Given the description of an element on the screen output the (x, y) to click on. 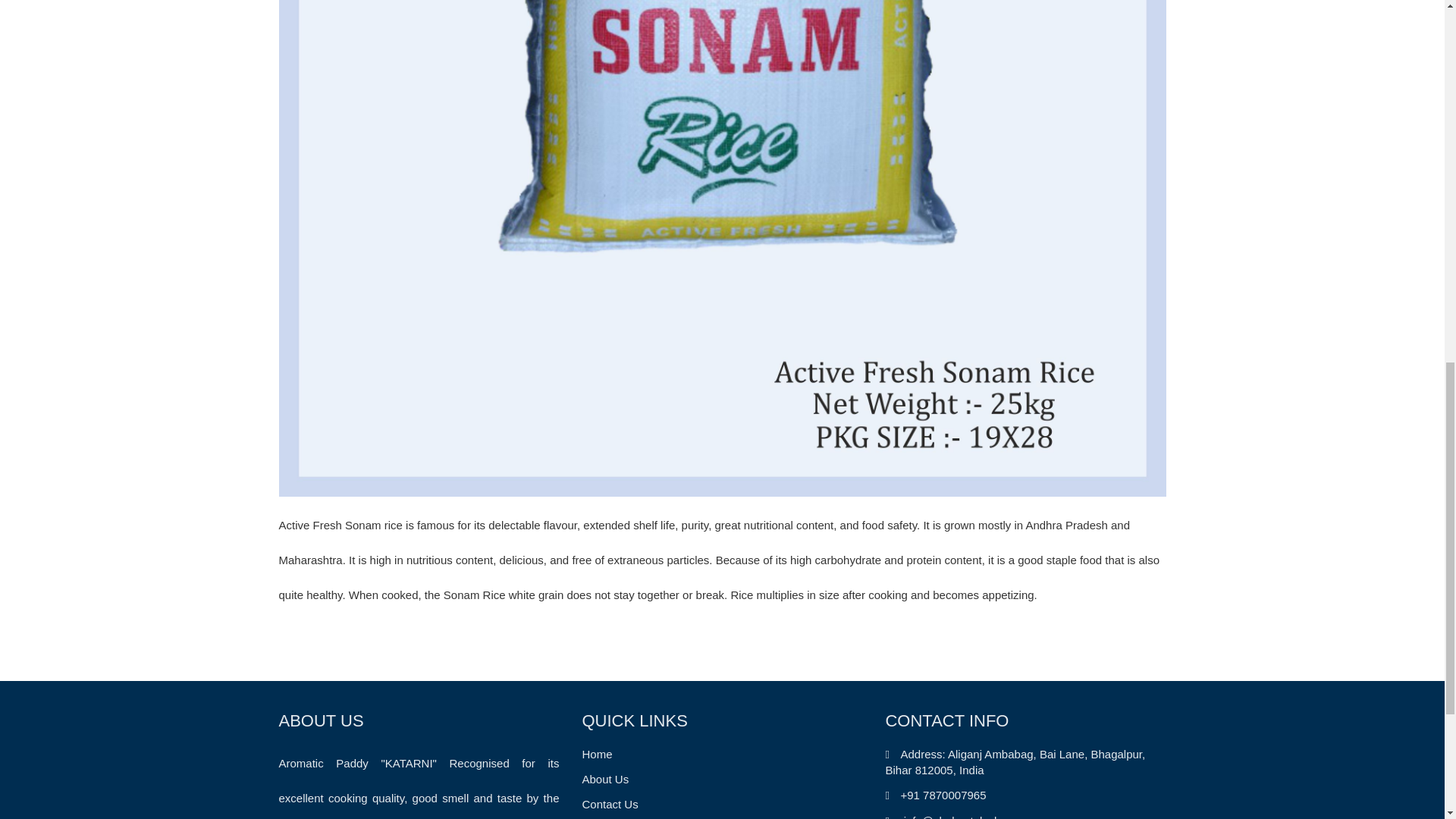
About Us (604, 779)
Home (595, 753)
Contact Us (608, 803)
